Given the description of an element on the screen output the (x, y) to click on. 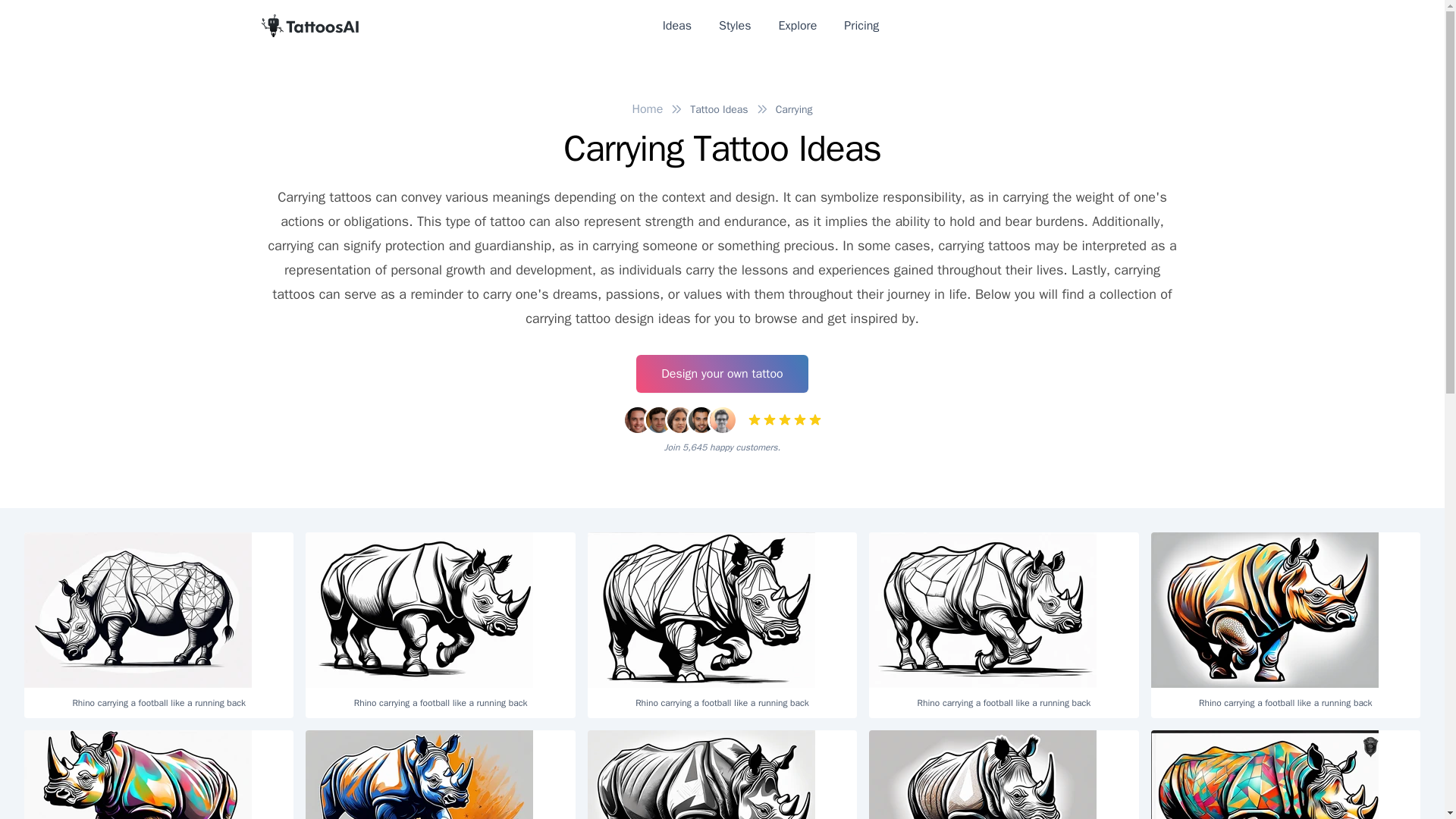
Rhino carrying a football like a running back (722, 625)
Tattoo Ideas (719, 108)
Rhino carrying a football like a running back tattoo idea (701, 774)
Rhino carrying a football like a running back (1003, 774)
Rhino carrying a football like a running back tattoo idea (1264, 609)
Rhino carrying a football like a running back tattoo idea (982, 609)
Explore (798, 25)
Rhino carrying a football like a running back tattoo idea (137, 774)
Rhino carrying a football like a running back tattoo idea (418, 774)
Home (646, 109)
